Given the description of an element on the screen output the (x, y) to click on. 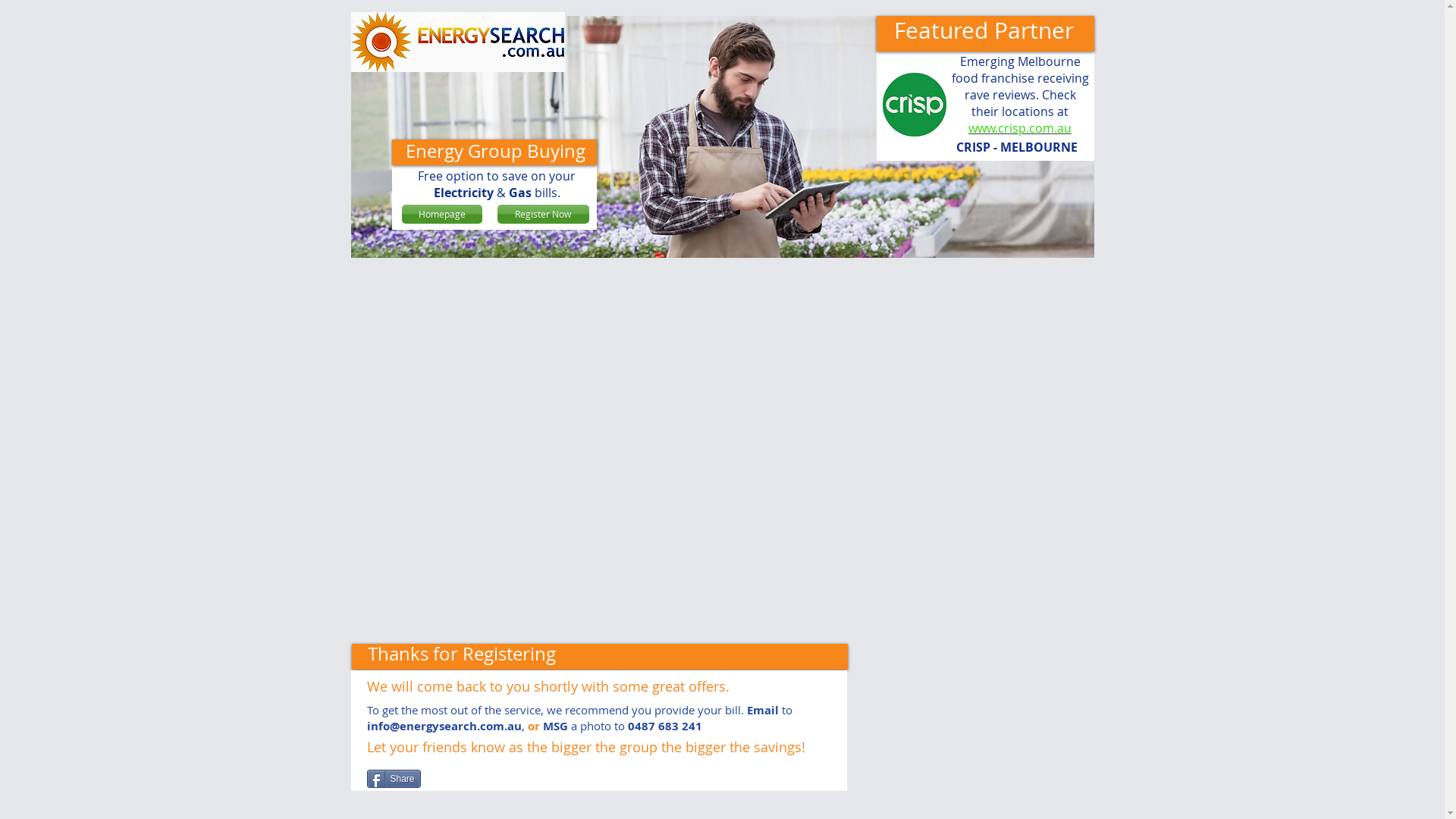
Twitter Tweet Element type: hover (723, 776)
www.crisp.com.au Element type: text (1019, 127)
@energysearch.com.au, Element type: text (456, 725)
Facebook Like Element type: hover (490, 776)
Twitter Follow Element type: hover (617, 776)
Homepage Element type: text (441, 213)
Register Now Element type: text (543, 213)
Share Element type: text (393, 778)
